Given the description of an element on the screen output the (x, y) to click on. 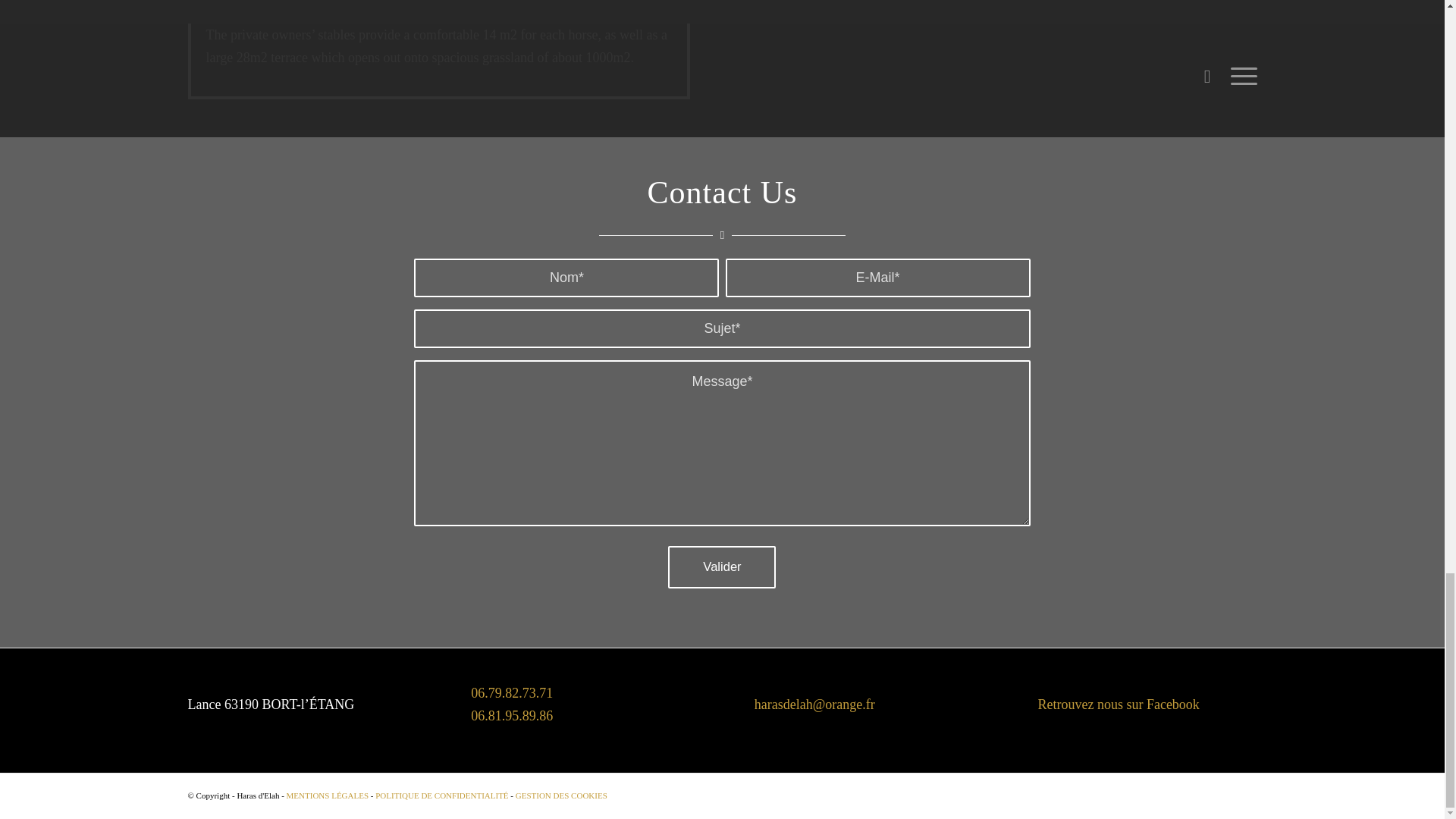
Valider (722, 567)
06.81.95.89.86 (511, 715)
Retrouvez nous sur Facebook (1117, 703)
GESTION DES COOKIES (561, 795)
Valider (722, 567)
06.79.82.73.71 (511, 693)
